Given the description of an element on the screen output the (x, y) to click on. 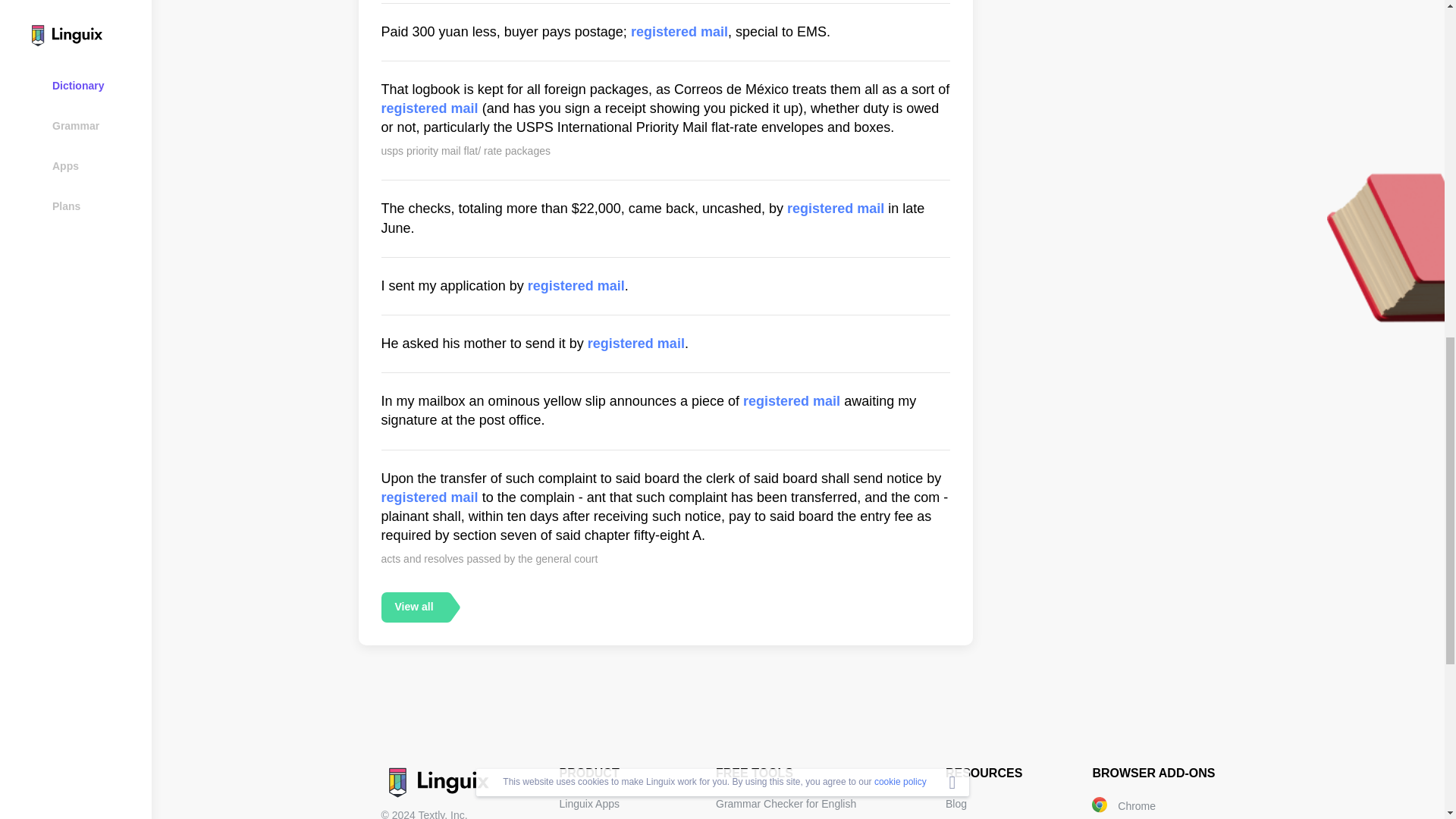
Grammar Checker for English (786, 803)
View all (413, 606)
